Given the description of an element on the screen output the (x, y) to click on. 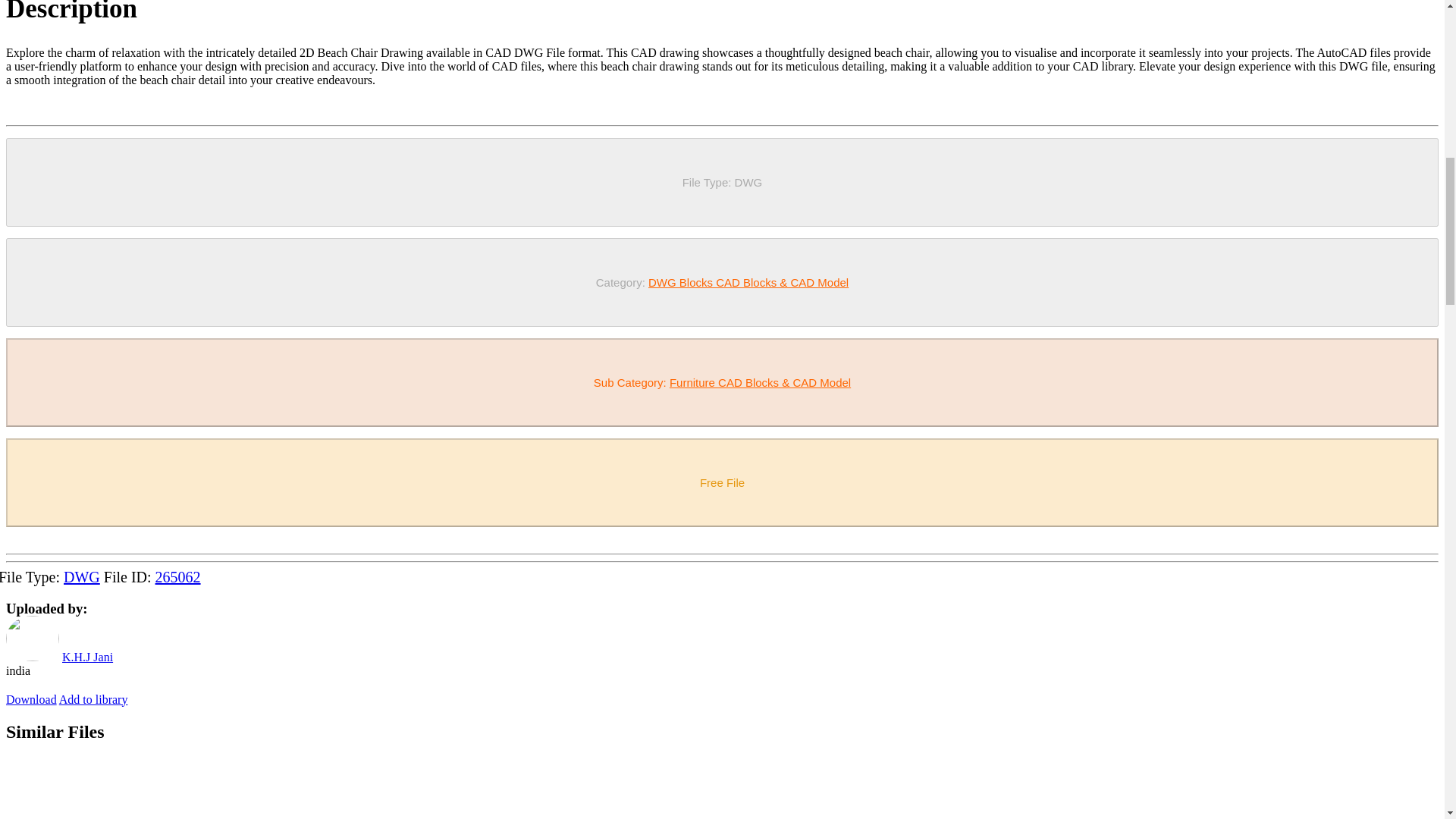
Add to library (93, 698)
265062 (177, 576)
DWG (82, 576)
K.H.J Jani (87, 656)
Download (30, 698)
